Given the description of an element on the screen output the (x, y) to click on. 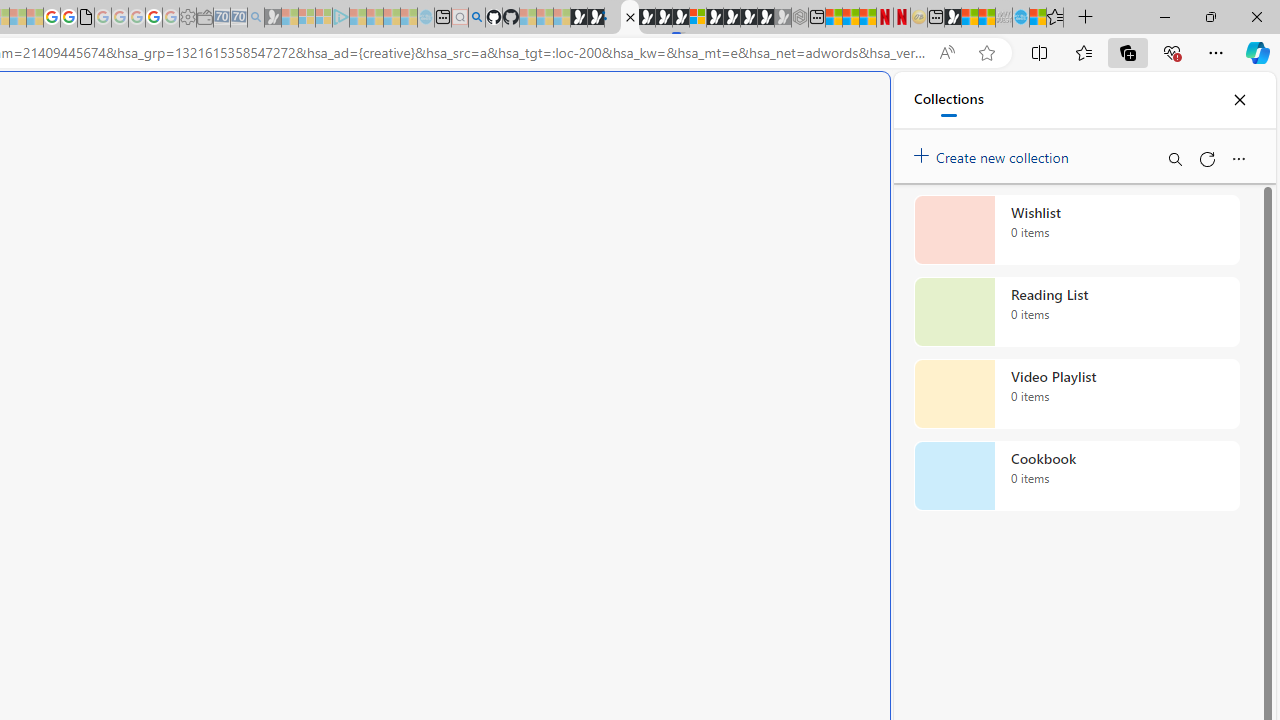
Close split screen (844, 102)
